Given the description of an element on the screen output the (x, y) to click on. 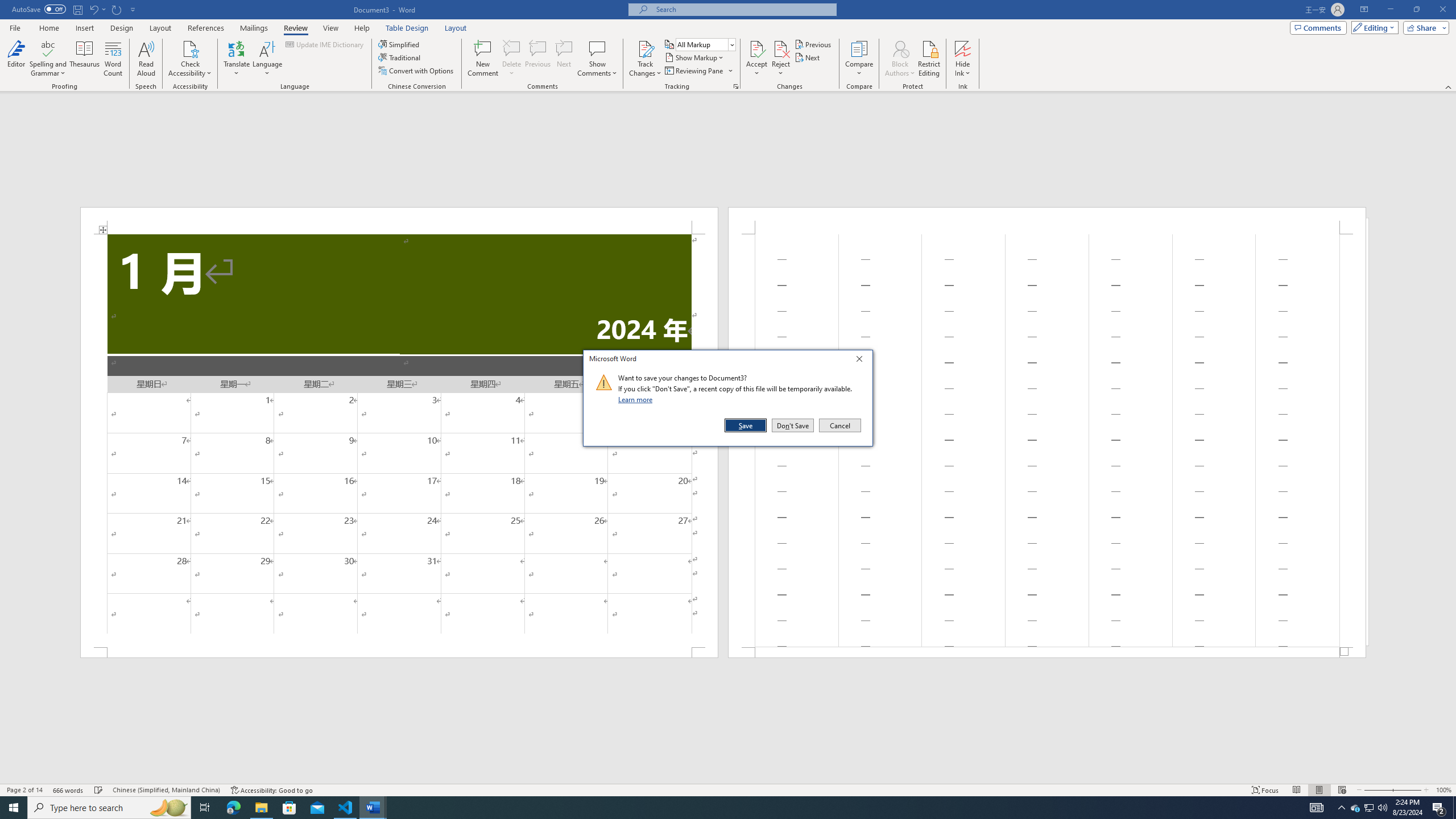
Action Center, 2 new notifications (1439, 807)
Footer -Section 1- (1046, 652)
Table Design (407, 28)
Update IME Dictionary... (324, 44)
Header -Section 1- (1046, 220)
Cancel (839, 425)
Word - 2 running windows (373, 807)
